Given the description of an element on the screen output the (x, y) to click on. 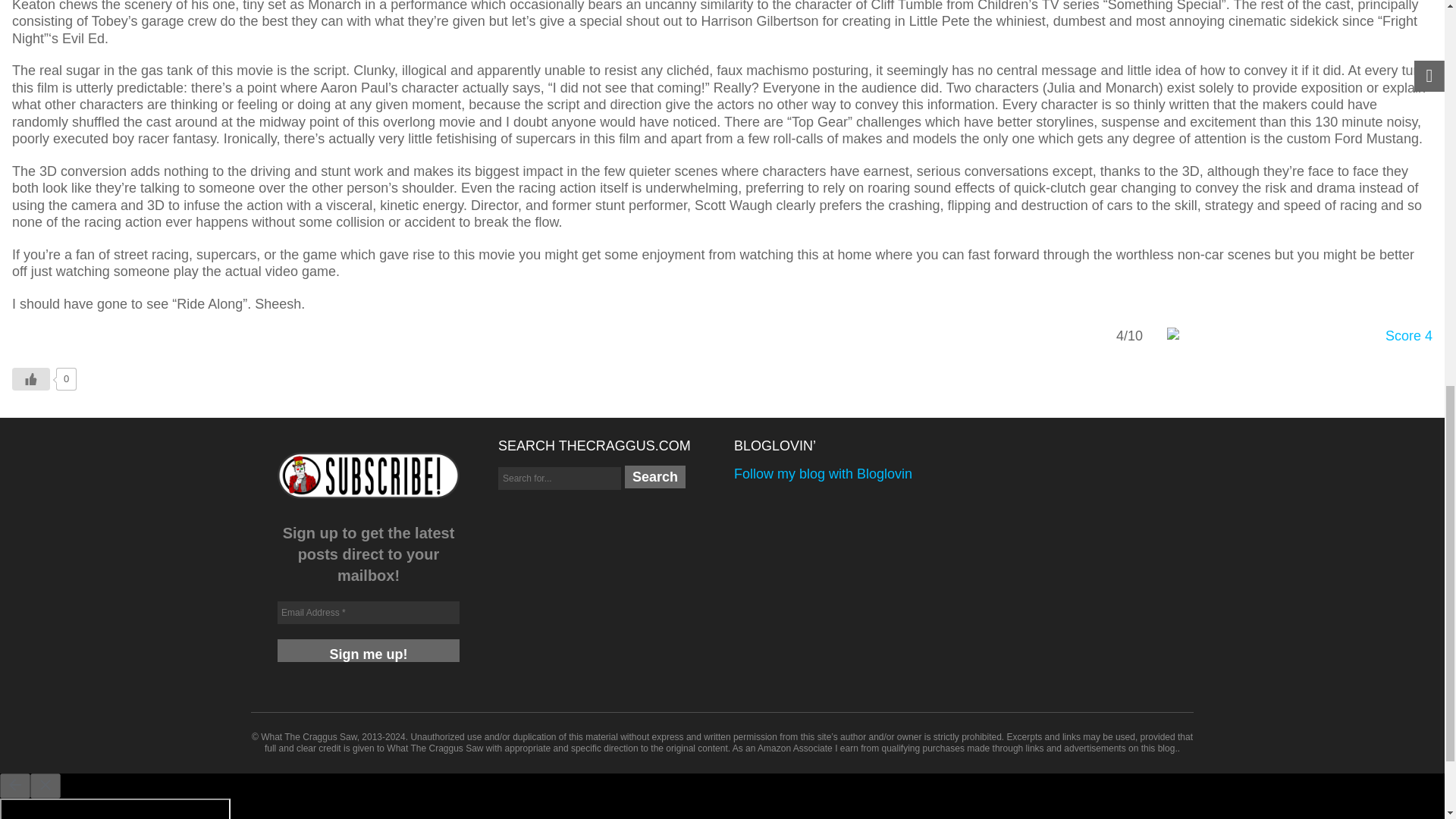
Search (654, 477)
Sign me up! (369, 650)
Sign me up! (369, 650)
Search (654, 477)
Email Address (369, 612)
Search (654, 477)
Search for... (559, 477)
